Given the description of an element on the screen output the (x, y) to click on. 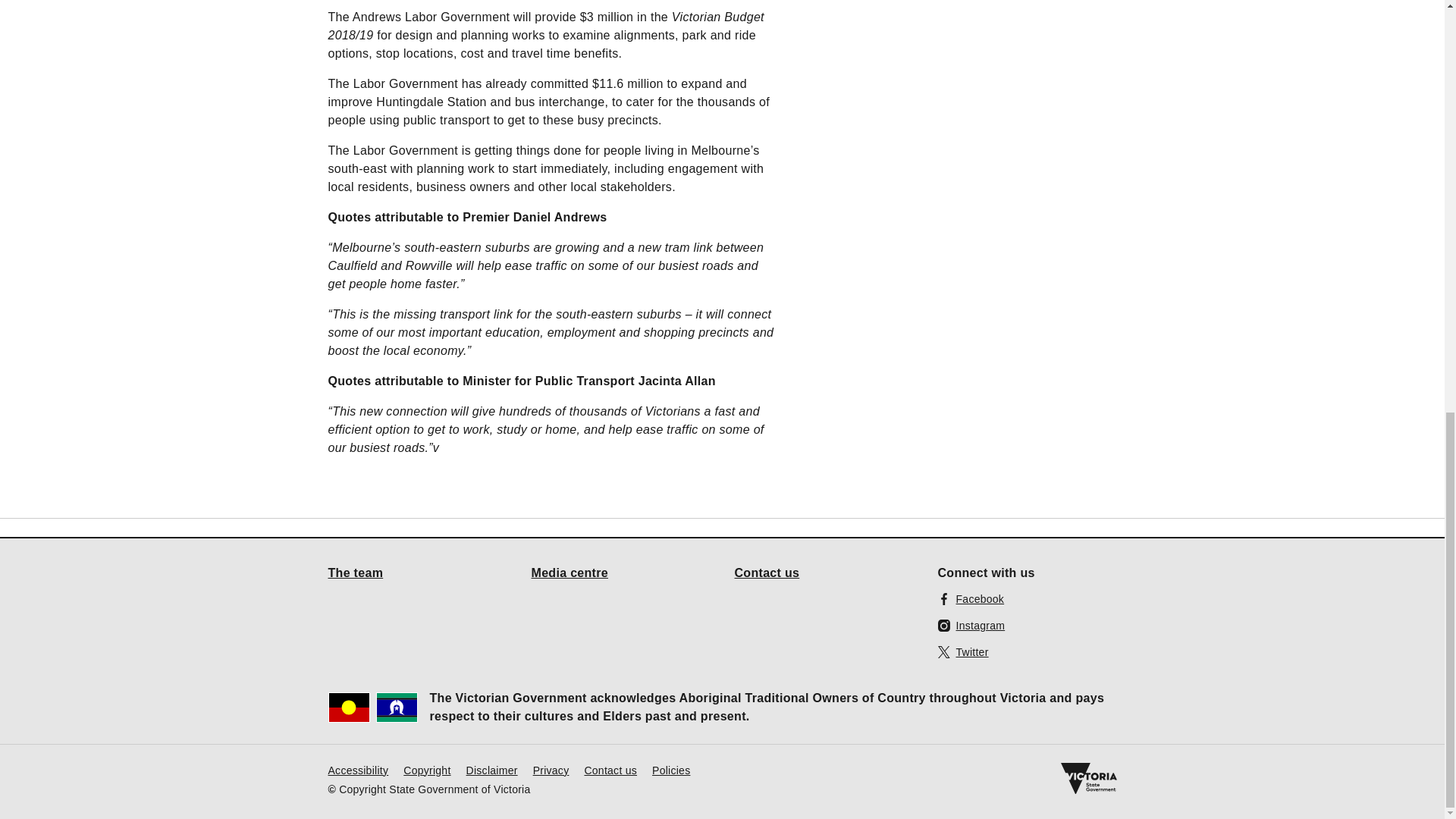
Instagram (970, 625)
Twitter (962, 651)
Media centre (569, 572)
The team (354, 572)
Facebook (970, 598)
Copyright (426, 769)
Victoria government home (1087, 778)
Disclaimer (491, 769)
Policies (671, 769)
Accessibility (357, 769)
Privacy (550, 769)
Contact us (766, 572)
Contact us (610, 769)
